Given the description of an element on the screen output the (x, y) to click on. 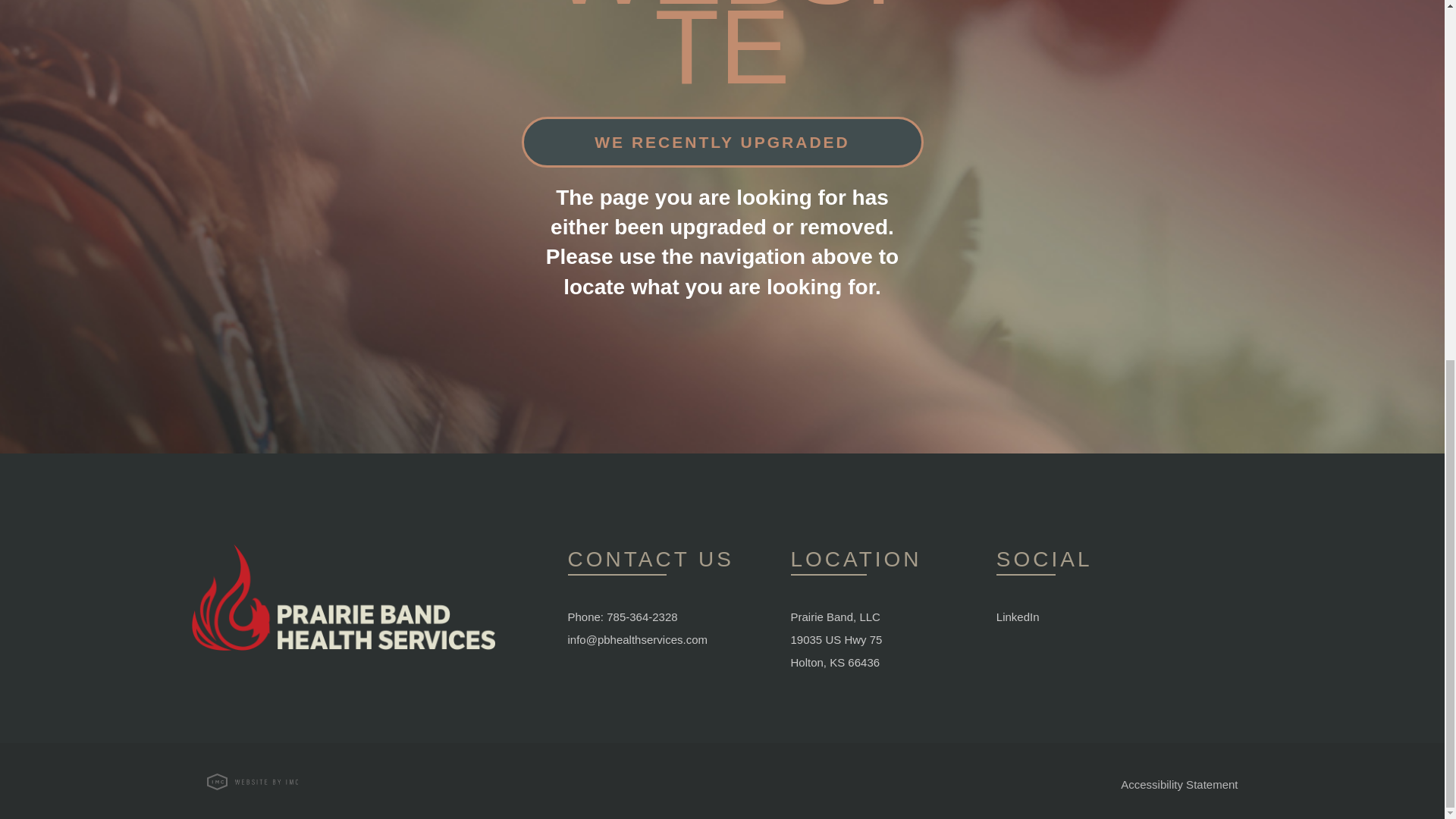
Accessibility Statement (1179, 784)
logo-footer (342, 597)
imc (251, 781)
LinkedIn (1017, 616)
